Given the description of an element on the screen output the (x, y) to click on. 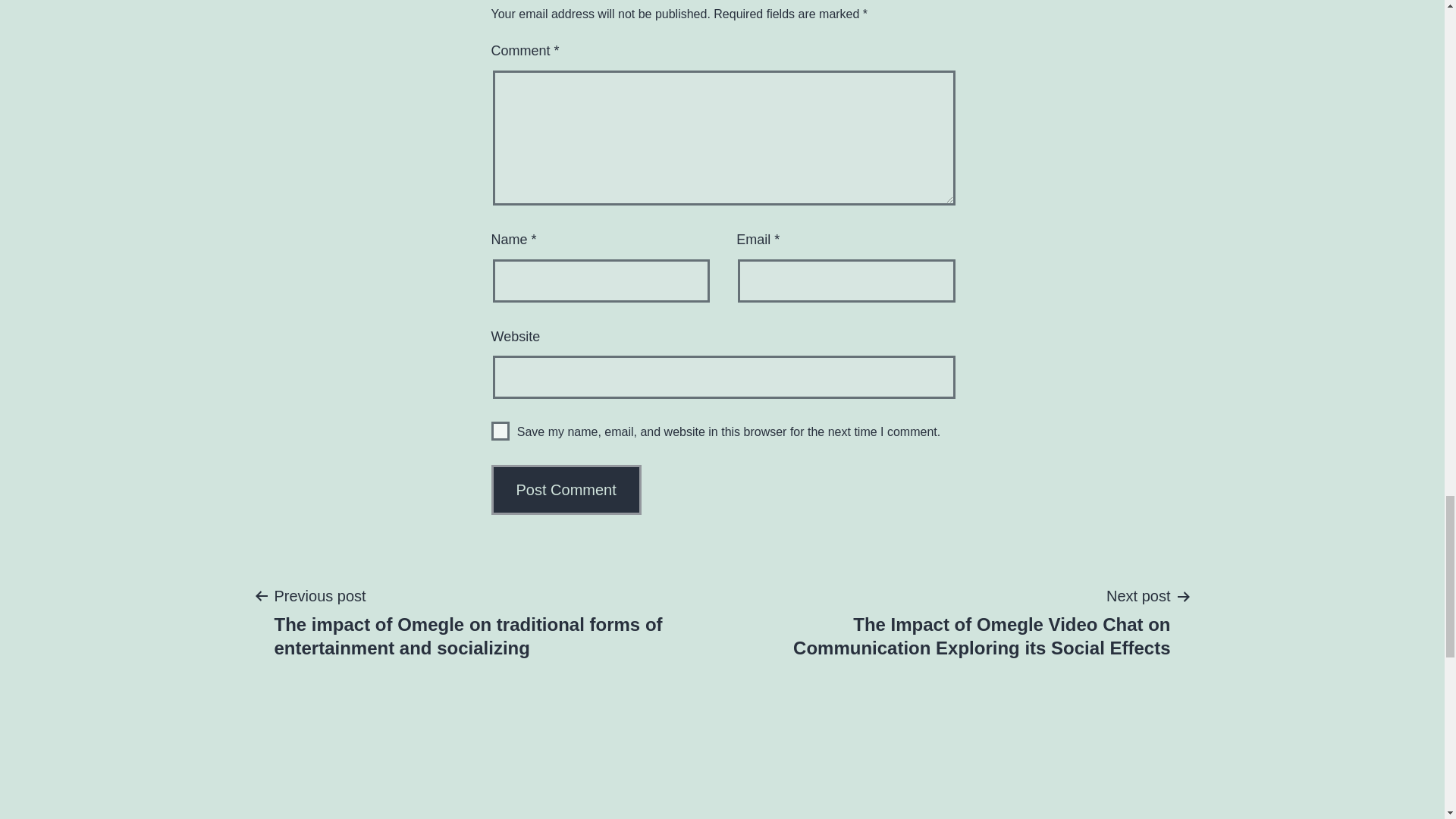
Post Comment (567, 490)
Post Comment (567, 490)
yes (500, 430)
